Given the description of an element on the screen output the (x, y) to click on. 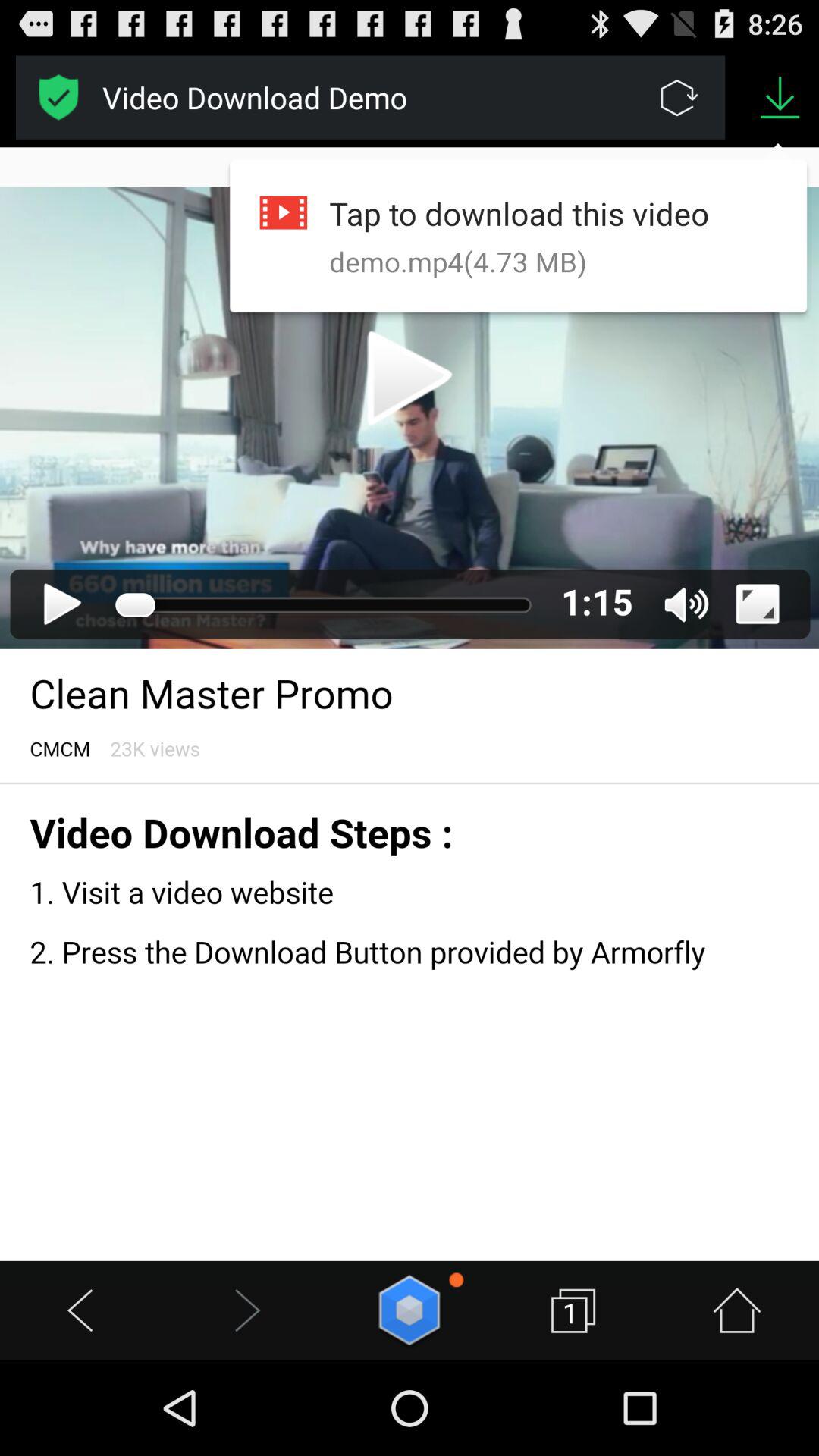
seeing in the paragraph (409, 703)
